Given the description of an element on the screen output the (x, y) to click on. 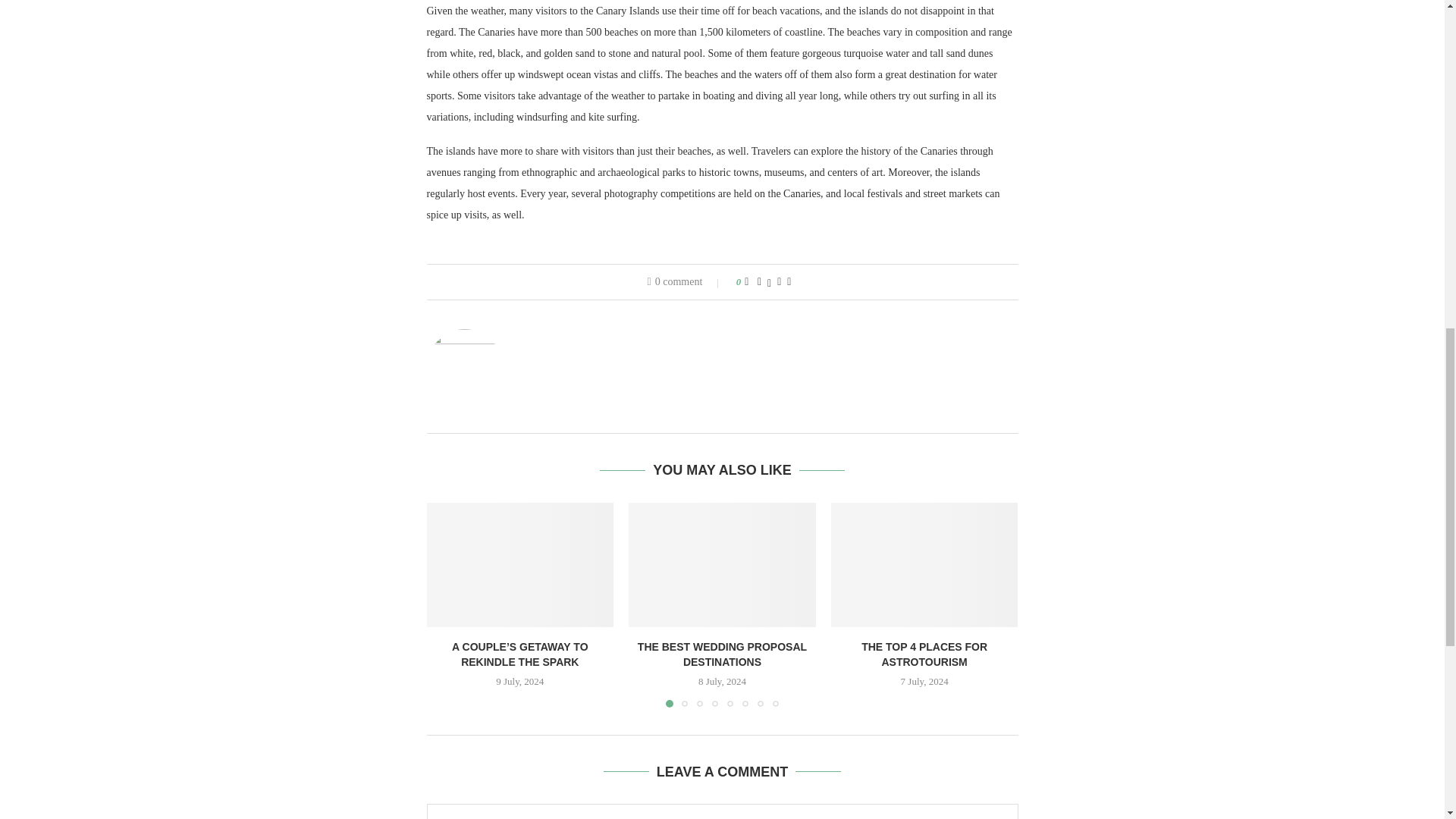
THE BEST WEDDING PROPOSAL DESTINATIONS (721, 564)
THE TOP 4 PLACES FOR ASTROTOURISM (924, 564)
